Given the description of an element on the screen output the (x, y) to click on. 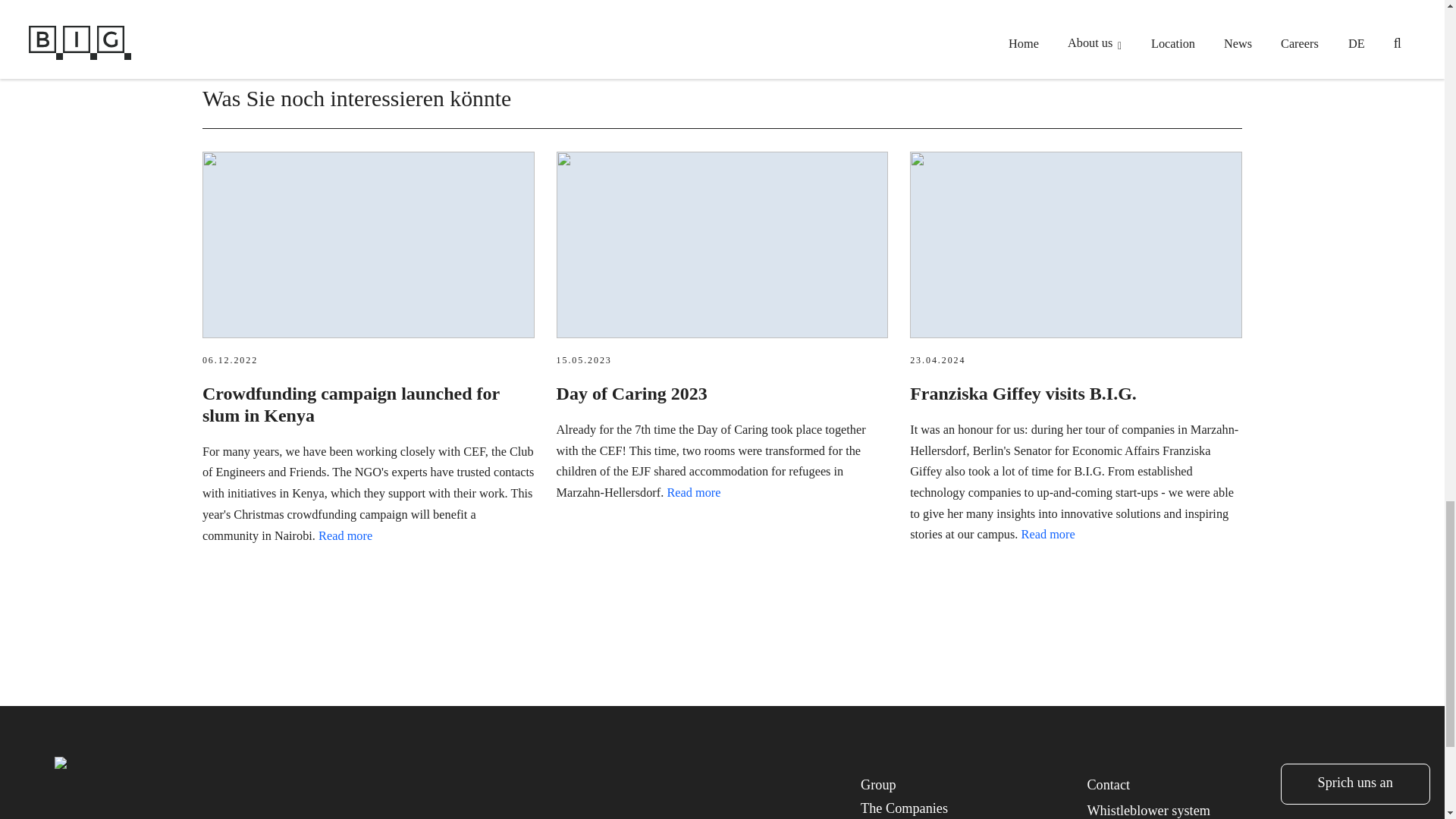
The Companies (903, 807)
Group (878, 784)
